Given the description of an element on the screen output the (x, y) to click on. 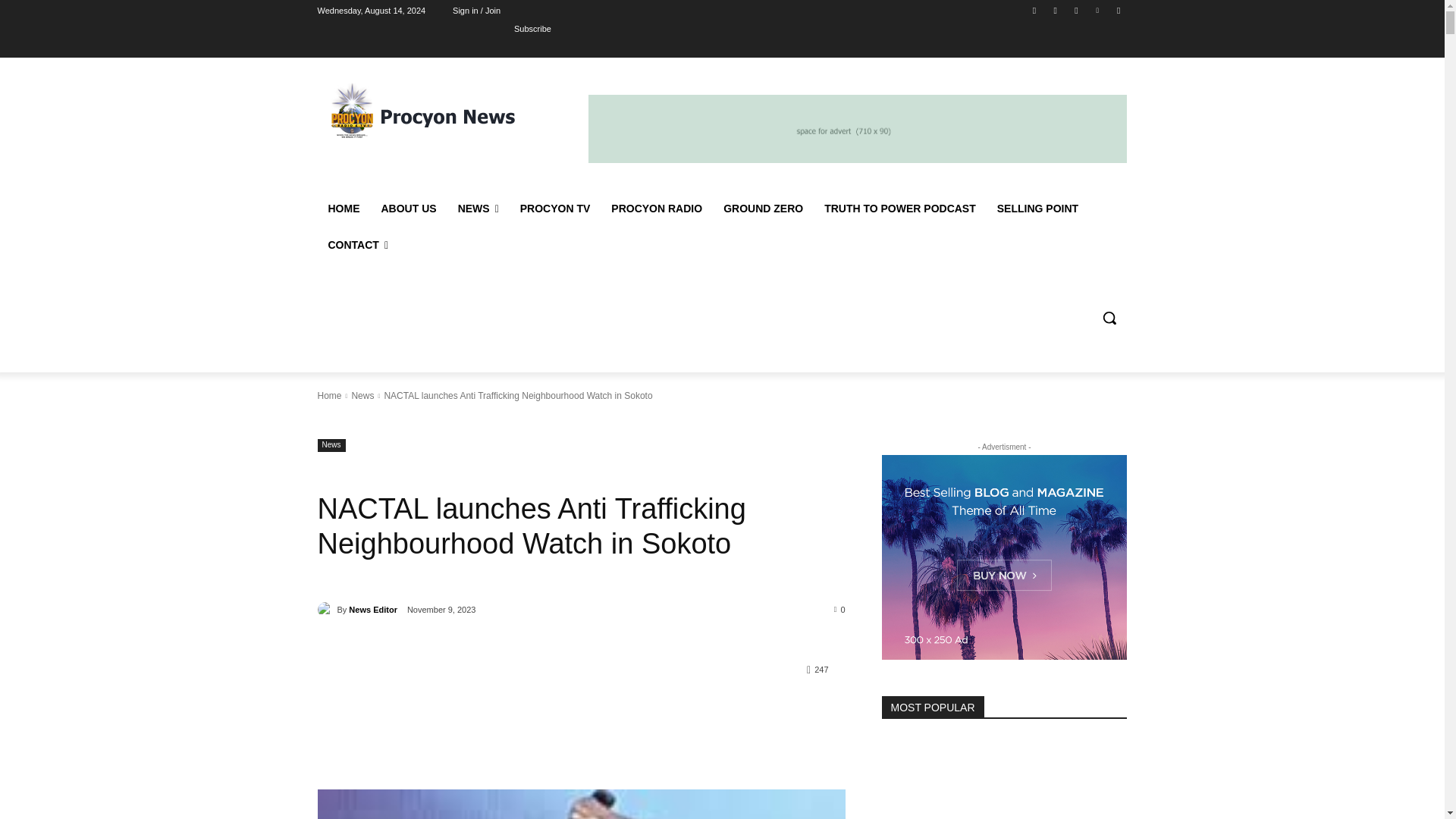
Instagram (1055, 9)
PROCYON TV (555, 208)
CONTACT (357, 244)
GROUND ZERO (763, 208)
HOME (343, 208)
ABOUT US (407, 208)
News Editor (326, 609)
Youtube (1117, 9)
SELLING POINT (1038, 208)
NEWS (477, 208)
